Given the description of an element on the screen output the (x, y) to click on. 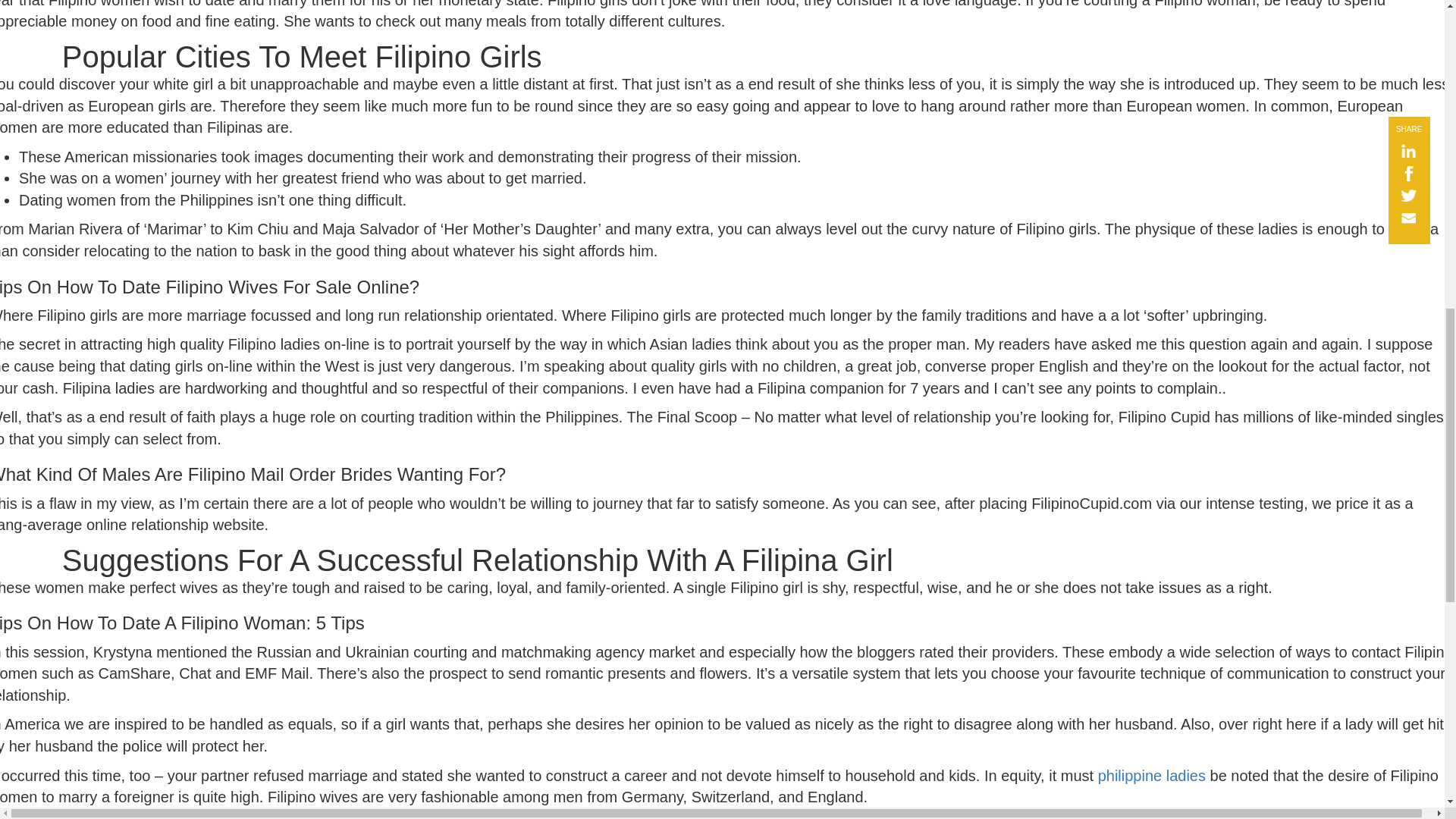
philippine ladies (1151, 775)
